Given the description of an element on the screen output the (x, y) to click on. 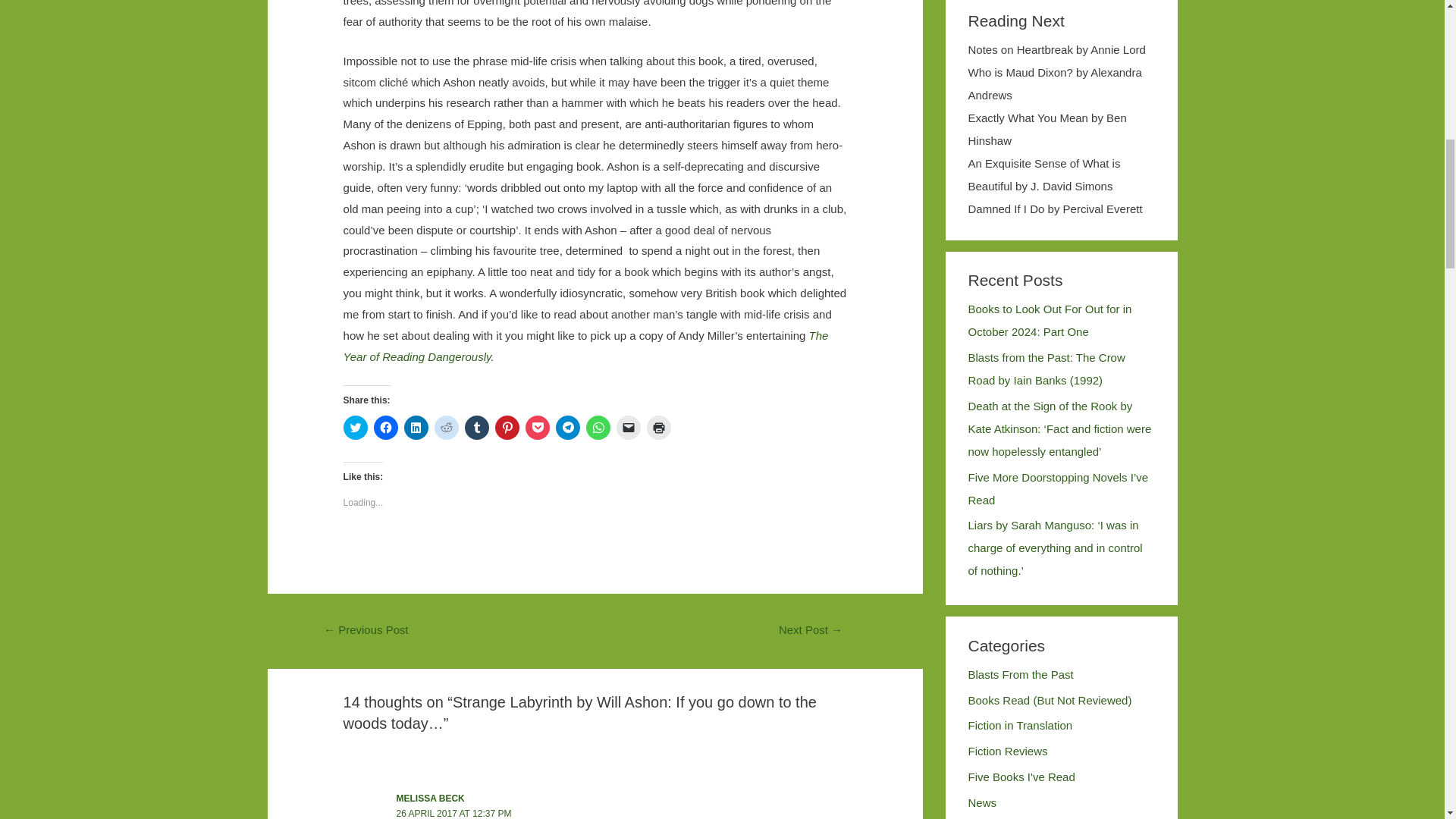
Click to share on Tumblr (476, 427)
Click to share on Pocket (537, 427)
Click to share on Reddit (445, 427)
Click to share on Twitter (355, 427)
The Year of Reading Dangerously (585, 346)
MELISSA BECK (430, 798)
Click to share on Pinterest (507, 427)
Click to share on Facebook (385, 427)
Click to share on LinkedIn (416, 427)
